Given the description of an element on the screen output the (x, y) to click on. 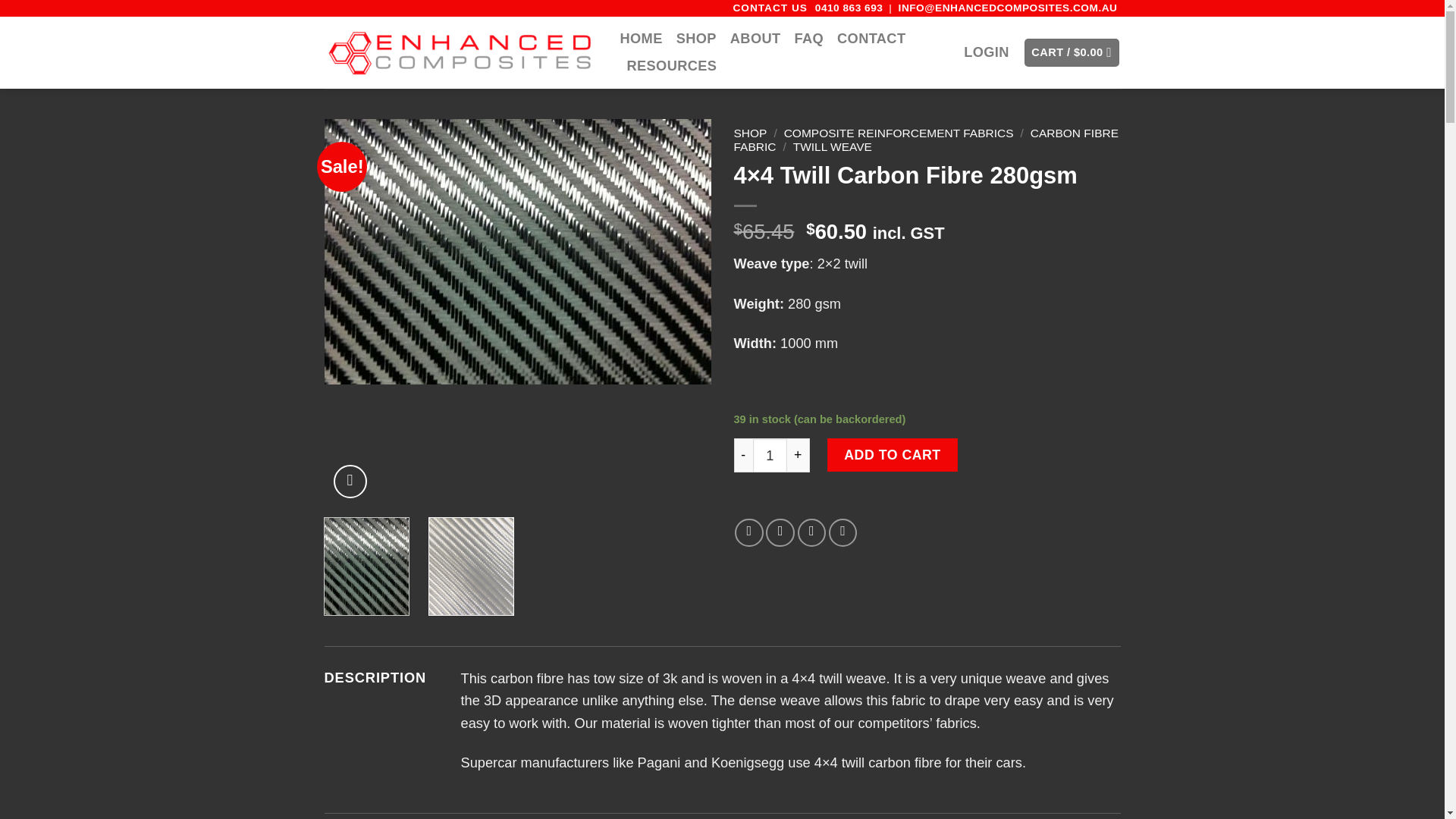
Share on LinkedIn (842, 532)
Share on Twitter (779, 532)
COMPOSITE REINFORCEMENT FABRICS (898, 132)
Share on Facebook (748, 532)
CARBON FIBRE FABRIC (926, 139)
Cart (1072, 52)
CONTACT (871, 38)
Zoom (349, 481)
HOME (641, 38)
Email to a Friend (812, 532)
